Given the description of an element on the screen output the (x, y) to click on. 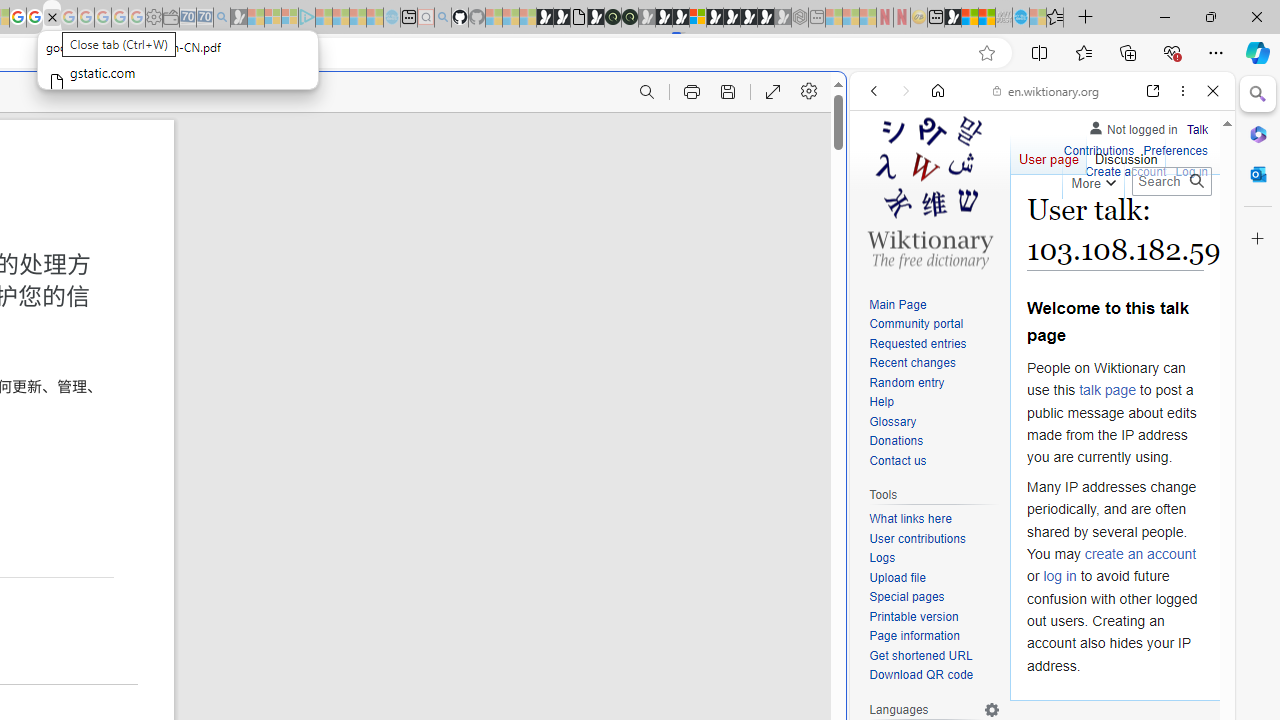
Go (1196, 181)
This site scope (936, 180)
Microsoft account | Privacy - Sleeping (289, 17)
github - Search - Sleeping (442, 17)
Upload file (897, 577)
Language settings (992, 709)
Create account (1125, 172)
Download QR code (934, 676)
Print (Ctrl+P) (692, 92)
Future Focus Report 2024 (629, 17)
Logs (882, 557)
